Given the description of an element on the screen output the (x, y) to click on. 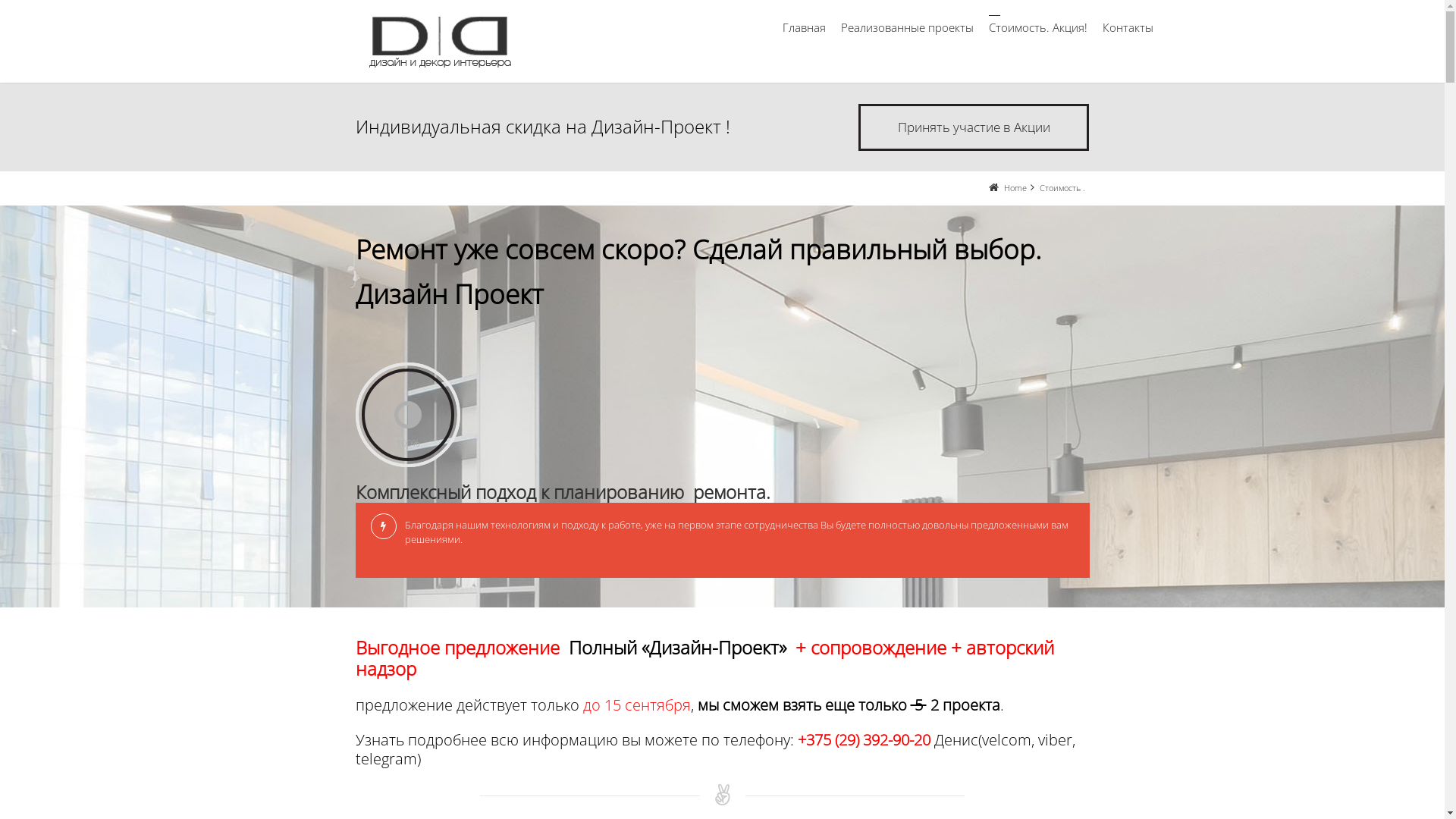
Home Element type: text (1015, 187)
Go back to the homepage Element type: hover (438, 41)
